Given the description of an element on the screen output the (x, y) to click on. 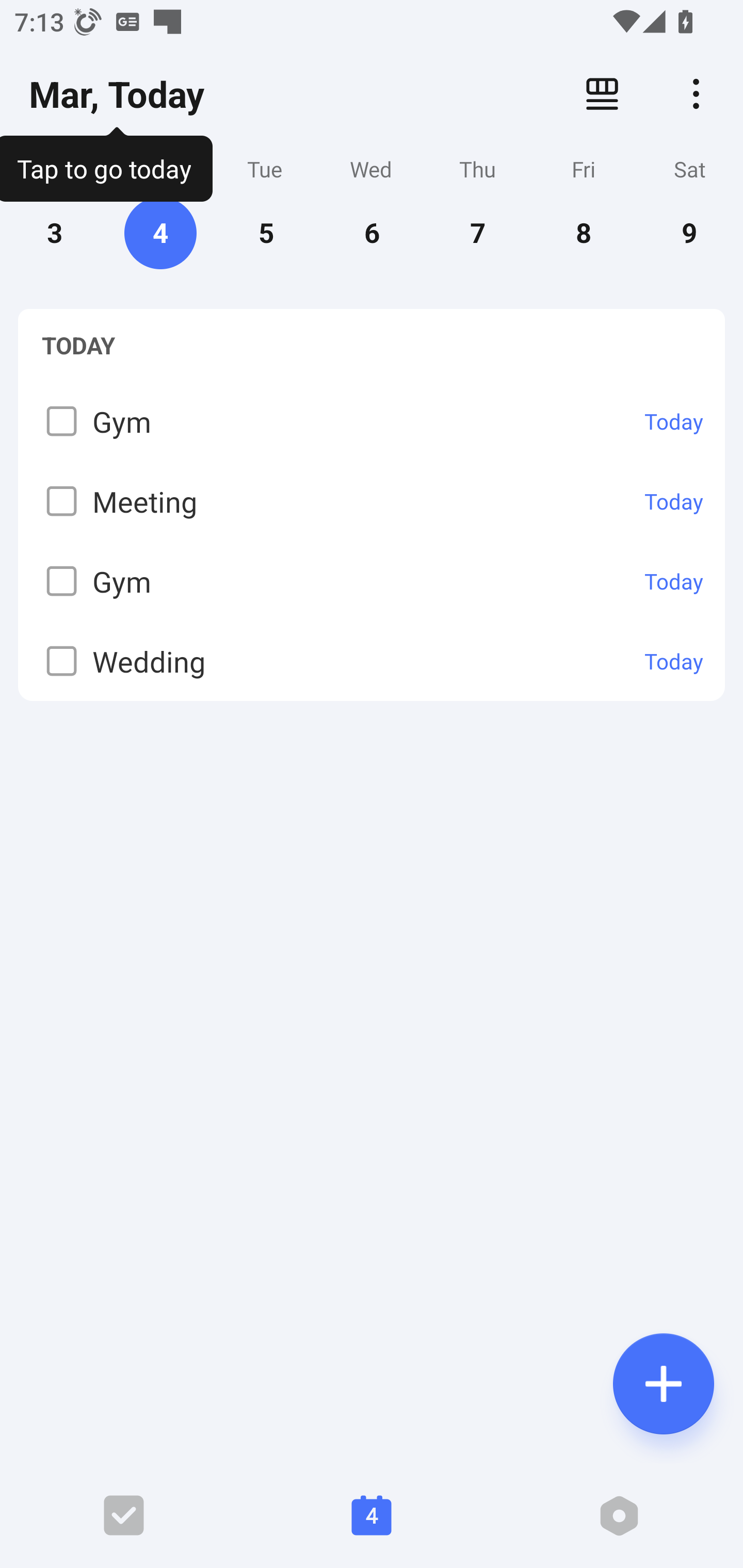
Mar, Today (116, 93)
Tap to go today (106, 164)
TODAY (371, 344)
Gym Today (371, 420)
Today (673, 420)
Meeting Today (371, 500)
Today (673, 500)
Gym Today (371, 580)
Today (673, 580)
Wedding Today (371, 660)
Today (673, 660)
